Given the description of an element on the screen output the (x, y) to click on. 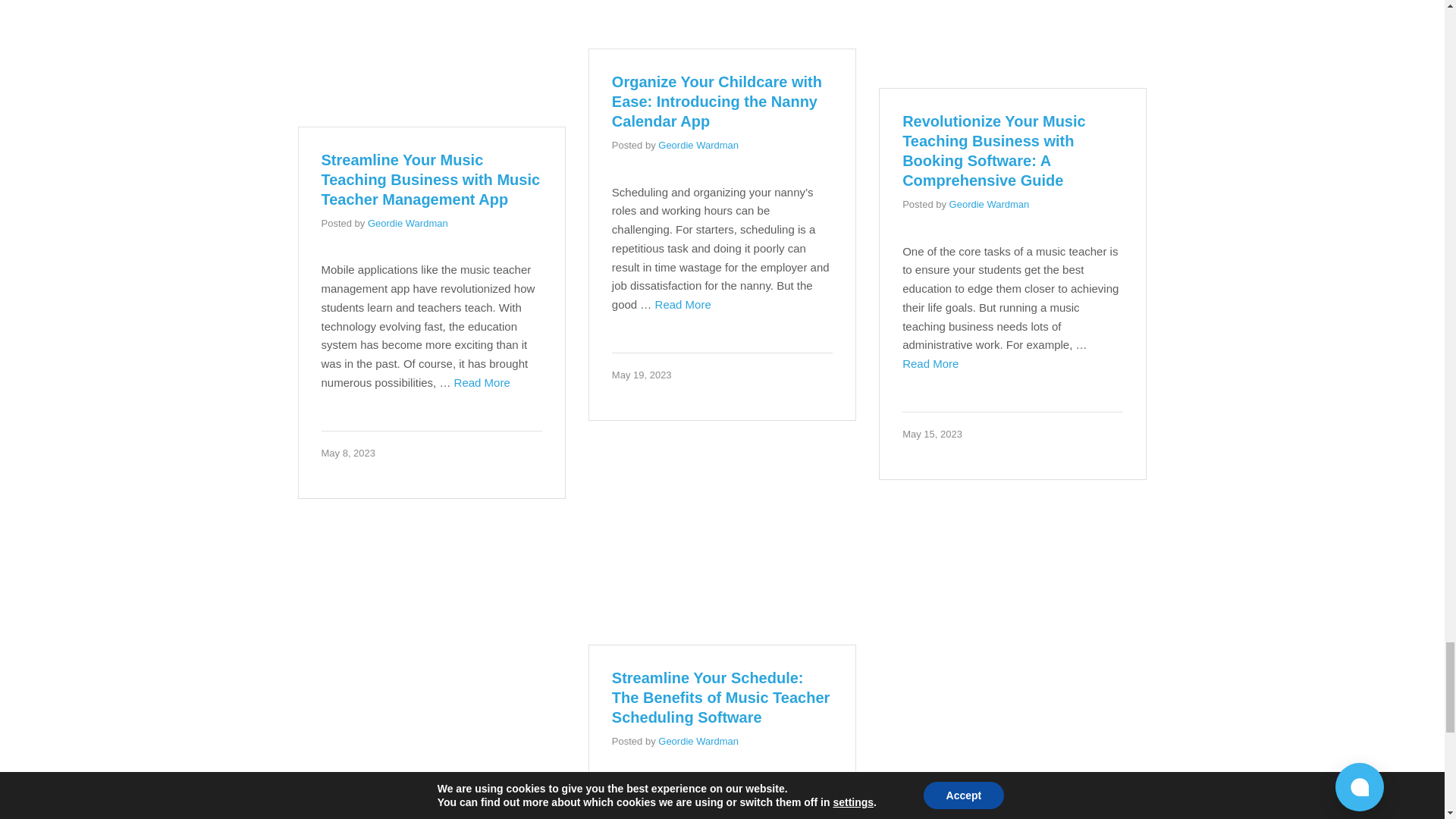
Posts by Geordie Wardman (408, 223)
Posts by Geordie Wardman (698, 740)
Posts by Geordie Wardman (698, 144)
Posts by Geordie Wardman (989, 204)
